Given the description of an element on the screen output the (x, y) to click on. 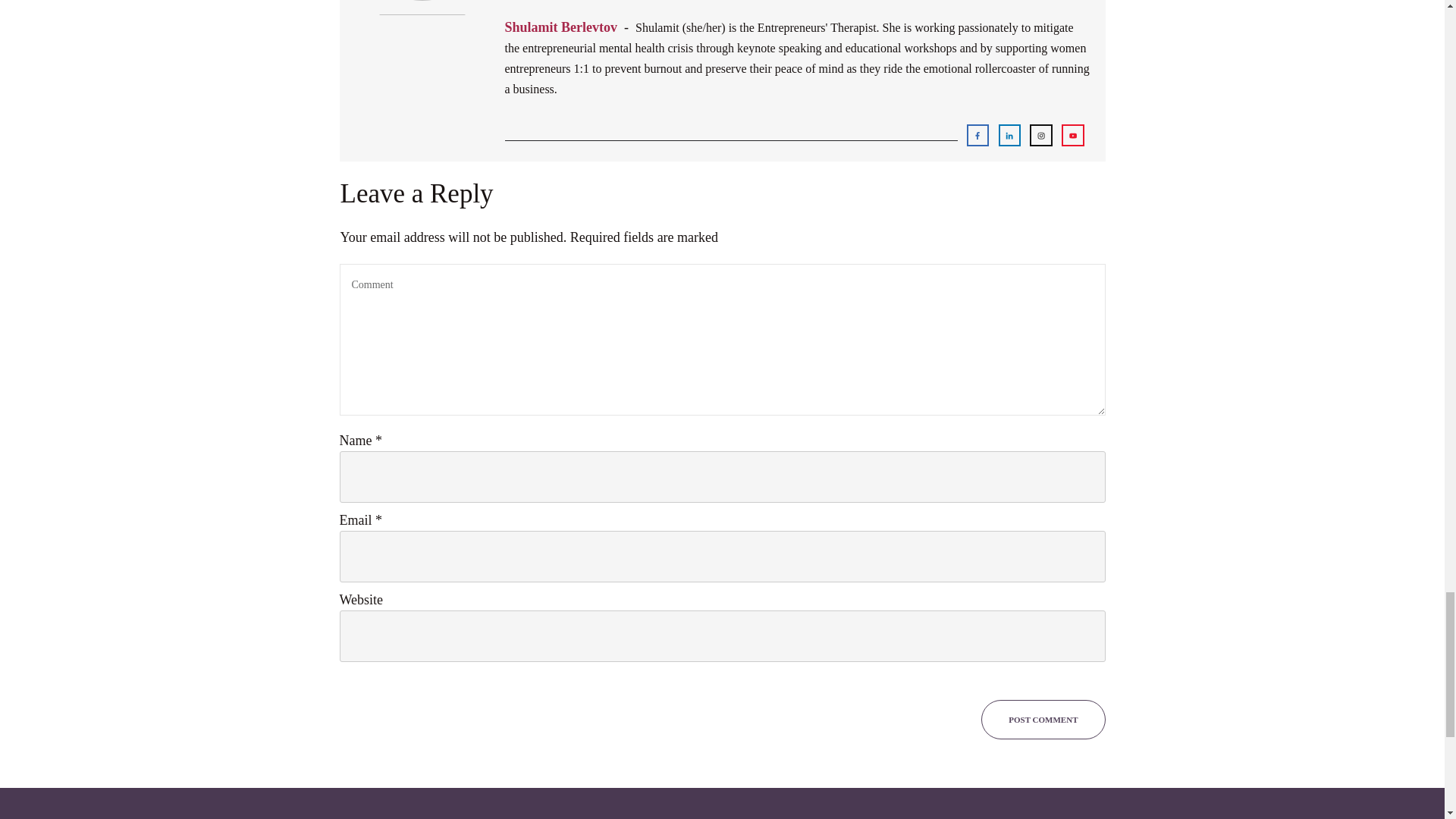
POST COMMENT (1043, 719)
Shulamit Ber Levtov this one pink headshot cropped (422, 65)
Shulamit Berlevtov (561, 27)
Shulamit Berlevtov (561, 27)
